Given the description of an element on the screen output the (x, y) to click on. 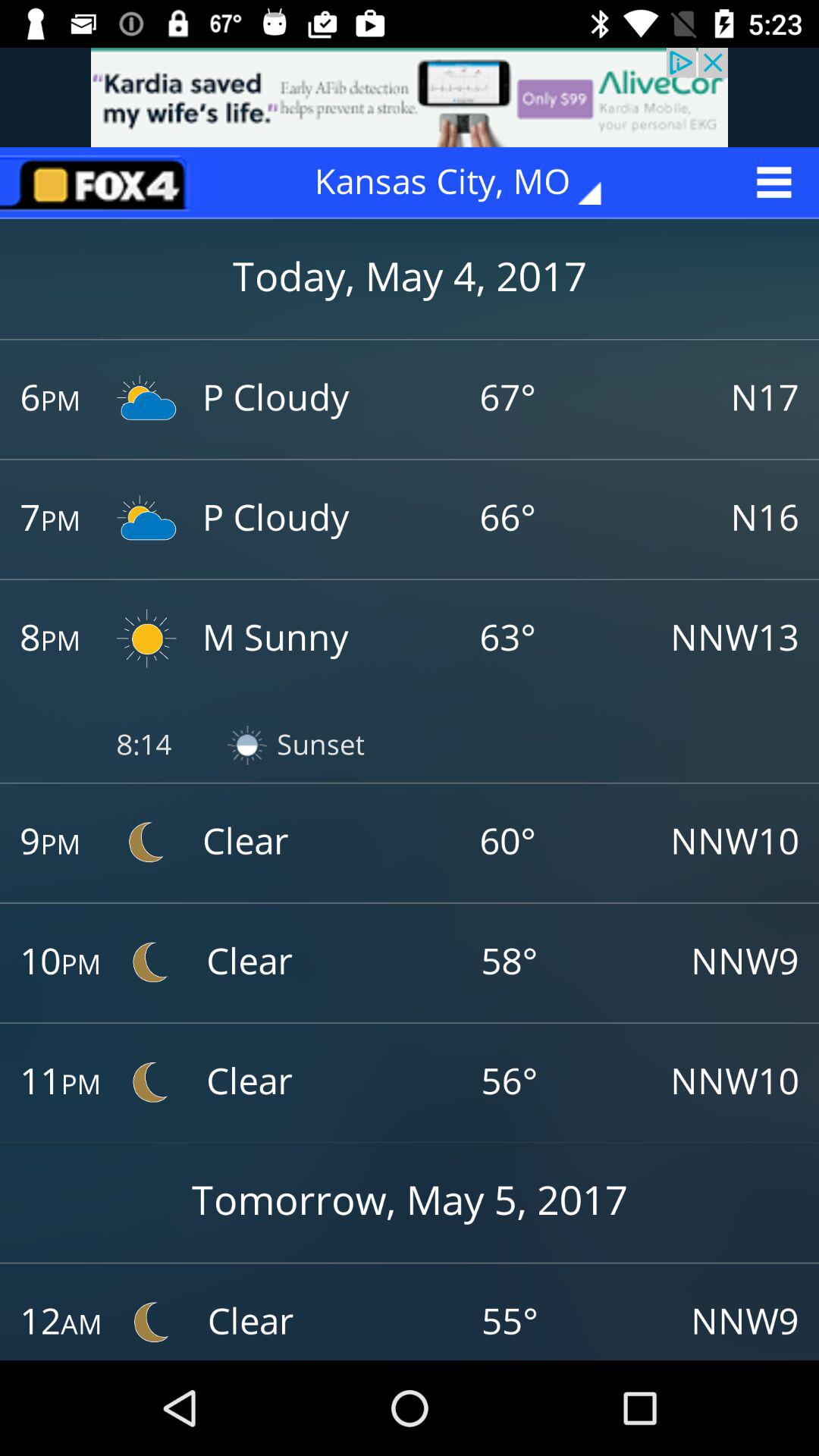
try this website (409, 97)
